Given the description of an element on the screen output the (x, y) to click on. 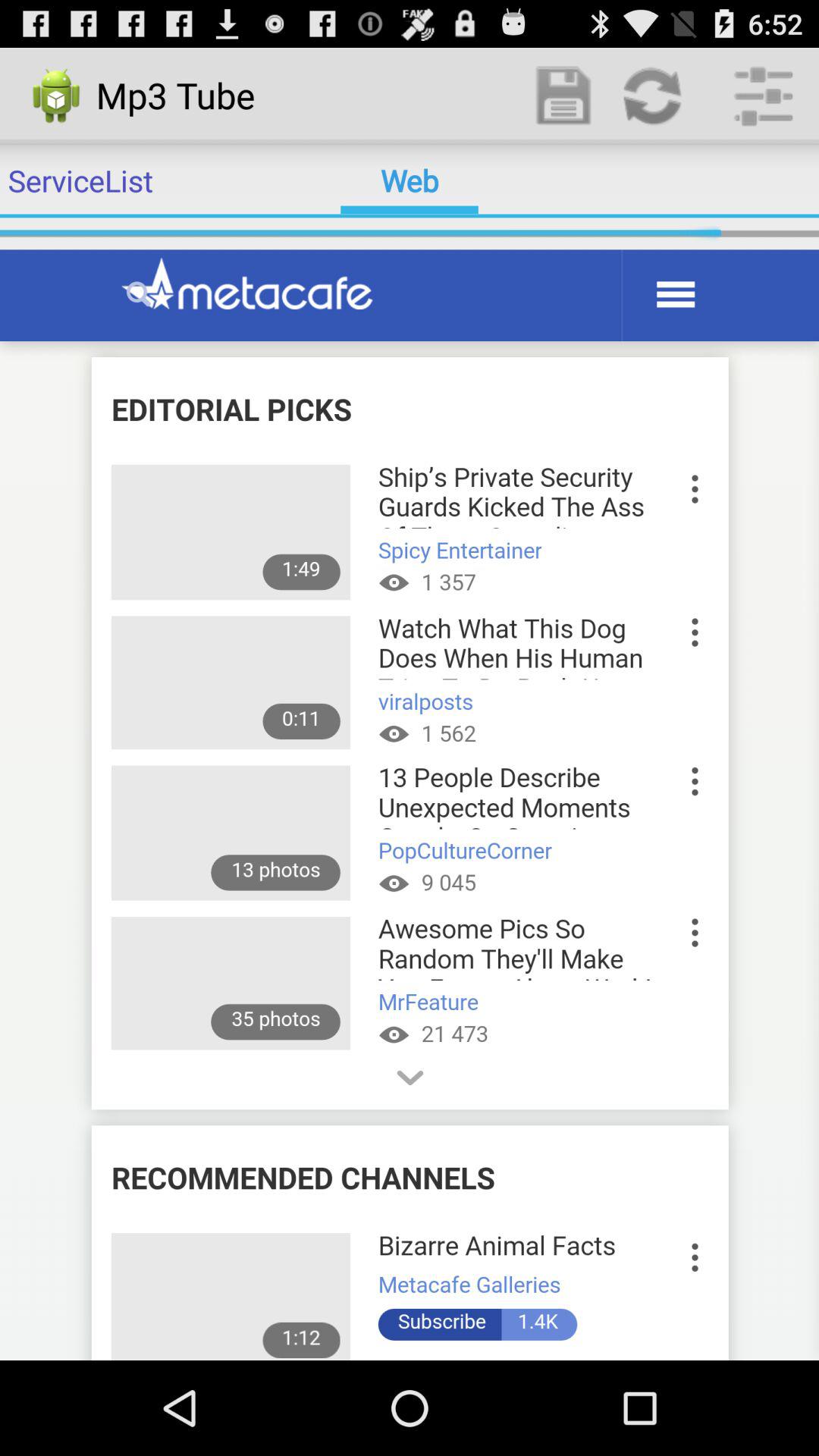
save work button (564, 95)
